Given the description of an element on the screen output the (x, y) to click on. 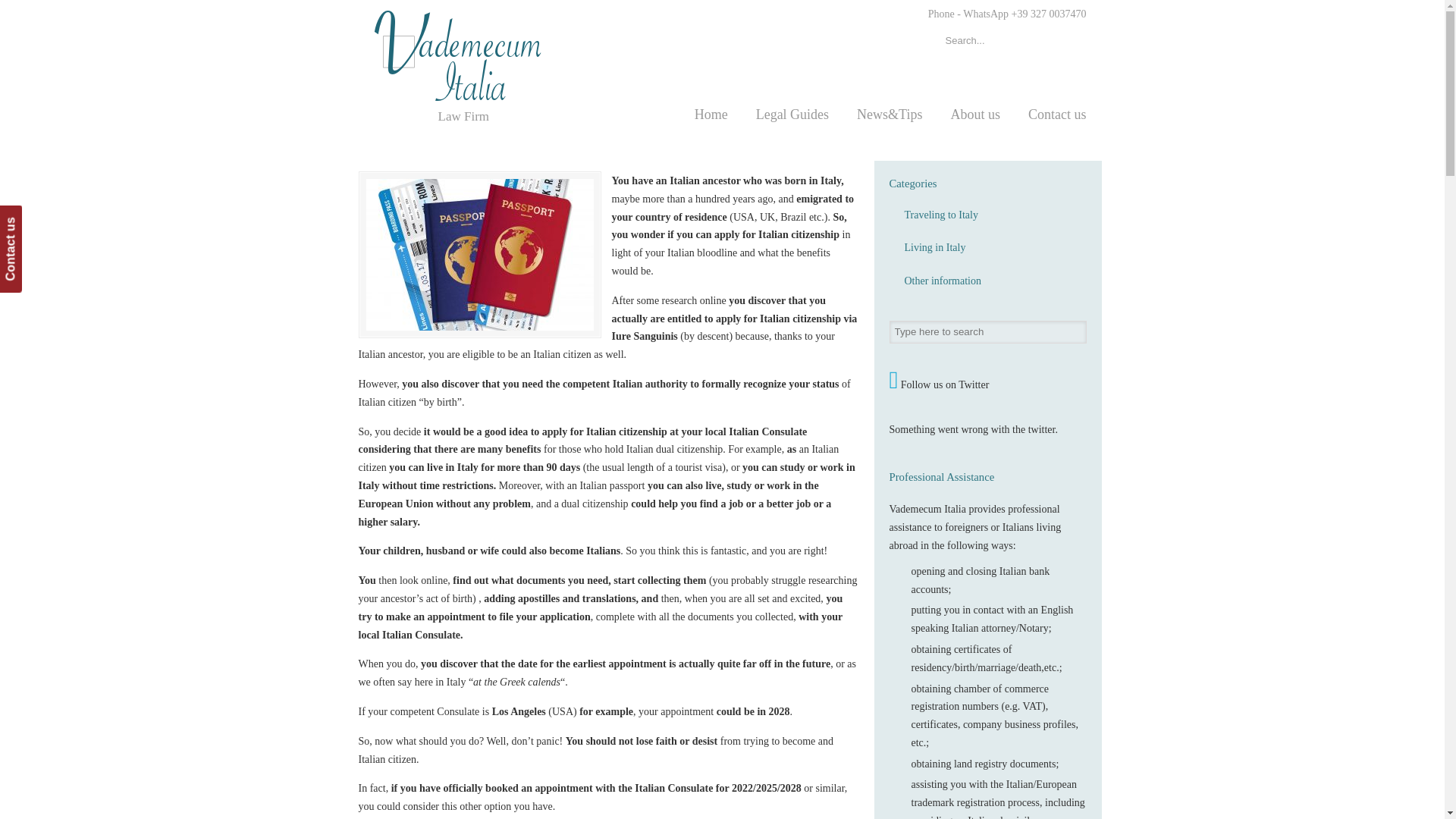
Vademecum Italia (471, 55)
search (1070, 40)
search (1070, 40)
Search (1074, 331)
Contact us (42, 217)
search (1070, 40)
Contact us (1057, 114)
About us (974, 114)
Vademecum Italia (471, 55)
Legal Guides (792, 114)
